Given the description of an element on the screen output the (x, y) to click on. 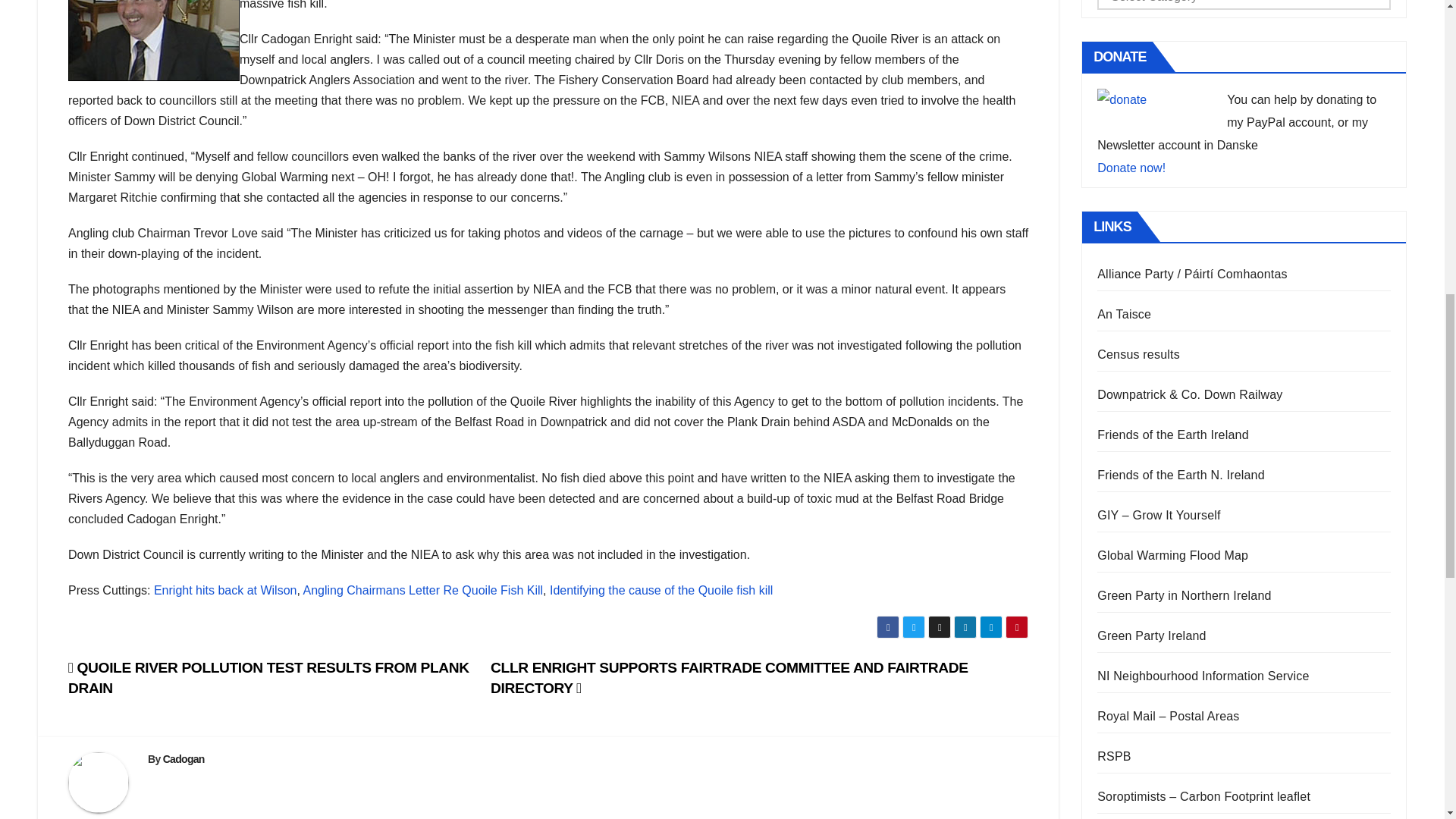
Enright hits back at Wilson (225, 590)
Cadogan (184, 758)
Identifying the cause of the Quoile fish kill (661, 590)
Identifying the cause of the Quoile fish kill (661, 590)
Angling Chairmans Letter Re Quoile Fish Kill (422, 590)
Enright hits back at Wilson (225, 590)
Angling Chairmans Letter Re Quoile Fish Kill (422, 590)
Environment Minister Sammy Wilson (154, 40)
QUOILE RIVER POLLUTION TEST RESULTS FROM PLANK DRAIN (268, 678)
